Given the description of an element on the screen output the (x, y) to click on. 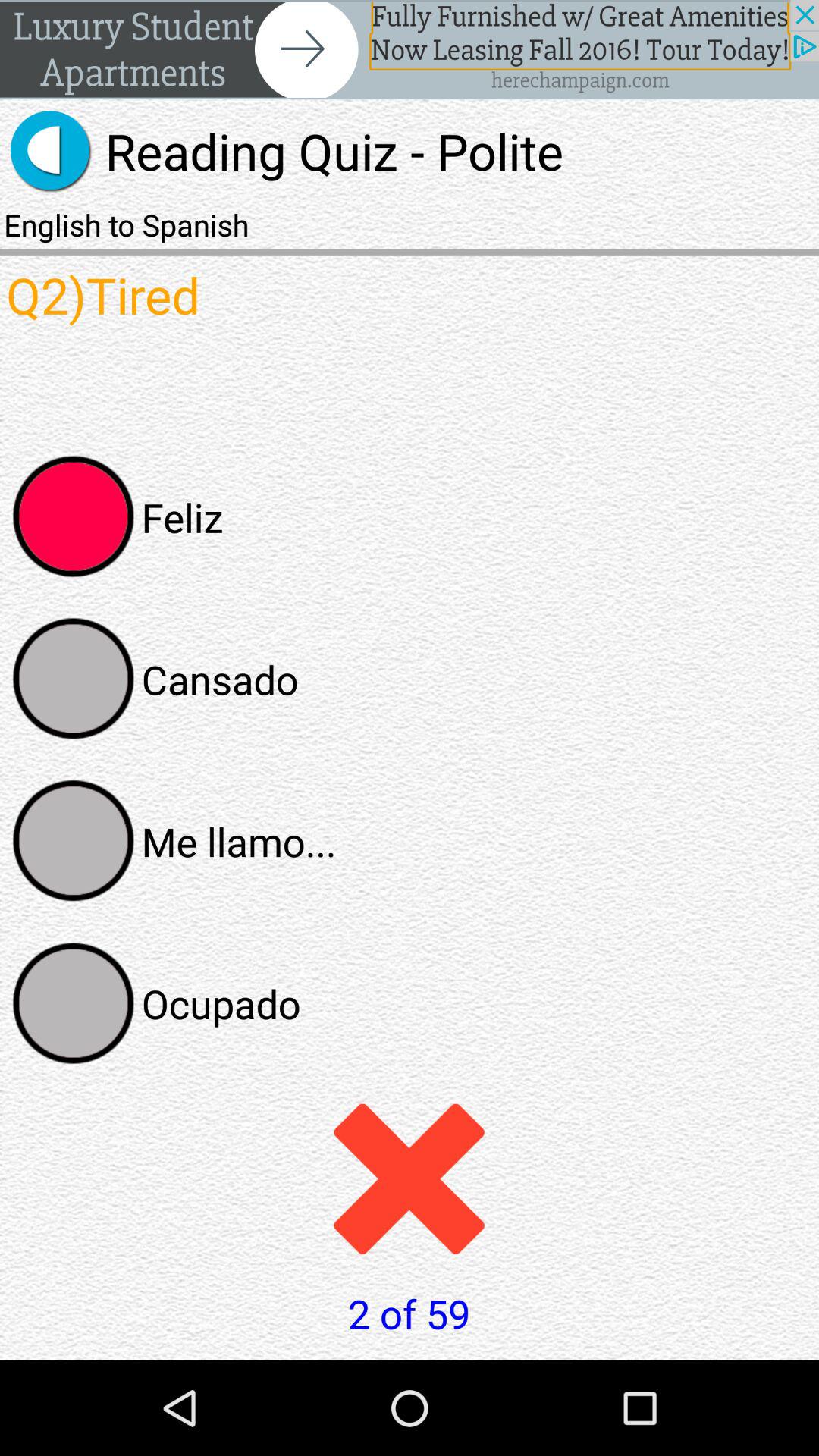
cansado button (73, 678)
